Given the description of an element on the screen output the (x, y) to click on. 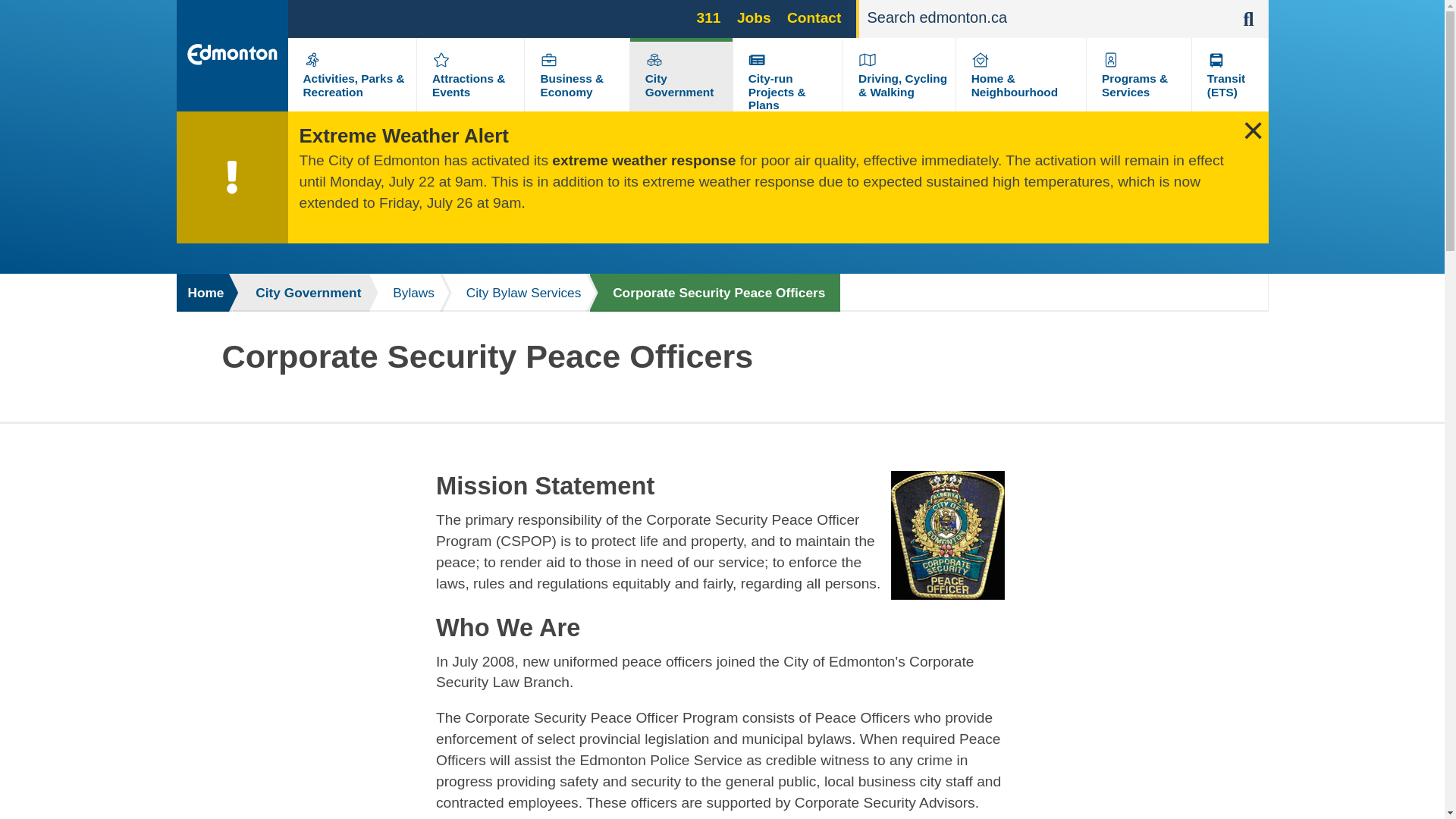
extreme weather response (643, 160)
City Government (300, 292)
Corporate Security Peace Officers (714, 292)
Bylaws (405, 292)
311 (708, 17)
Jobs (753, 17)
City Bylaw Services (516, 292)
Contact (814, 17)
Home (203, 292)
City Government (679, 85)
